Given the description of an element on the screen output the (x, y) to click on. 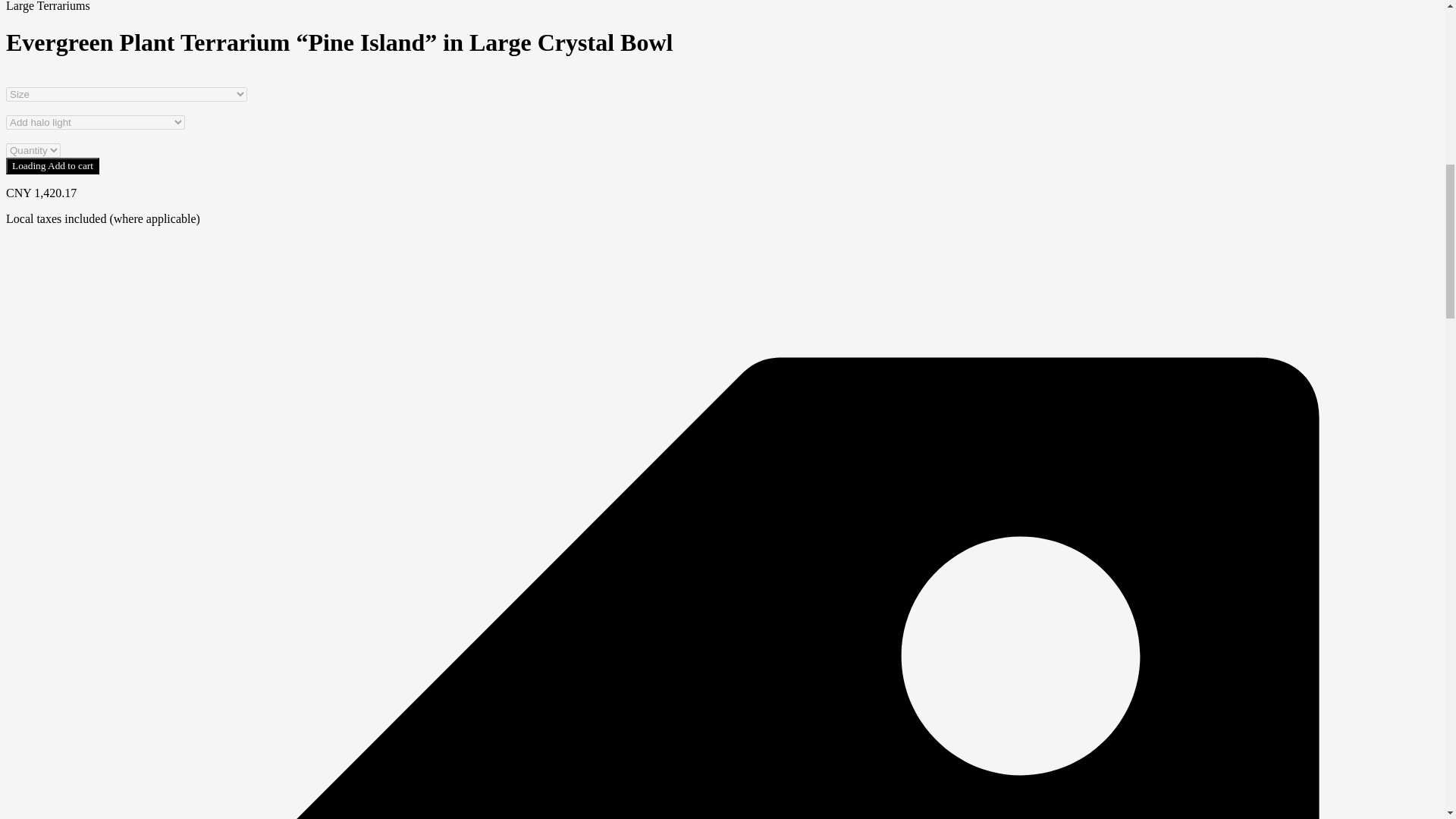
Loading Add to cart (52, 166)
